Given the description of an element on the screen output the (x, y) to click on. 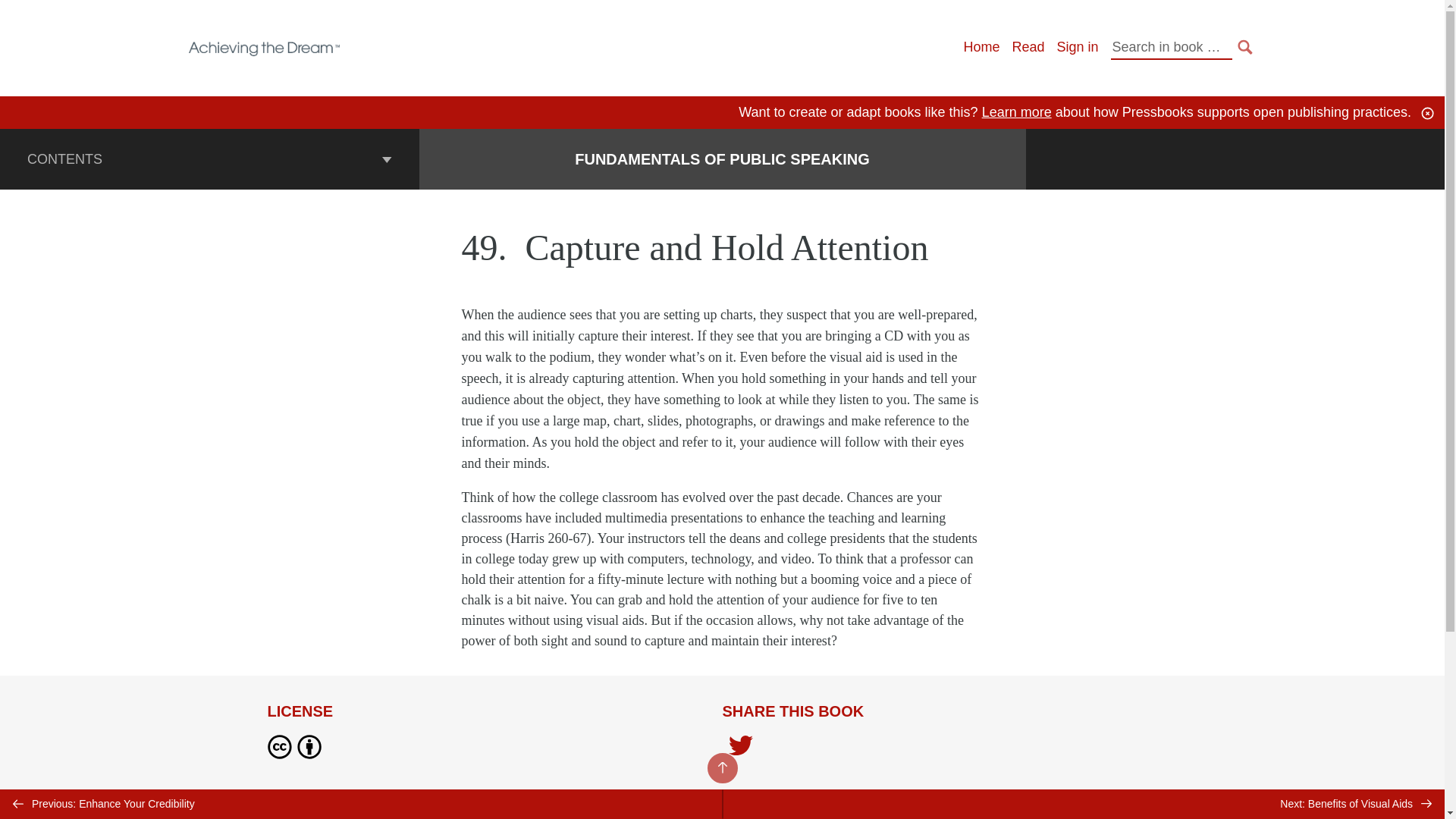
Previous: Enhance Your Credibility (361, 804)
CONTENTS (209, 158)
Read (1027, 46)
BACK TO TOP (721, 767)
FUNDAMENTALS OF PUBLIC SPEAKING (722, 159)
Creative Commons Attribution 4.0 International License (459, 816)
Learn more (1016, 111)
Share on Twitter (740, 749)
Sign in (1077, 46)
Share on Twitter (740, 746)
